Given the description of an element on the screen output the (x, y) to click on. 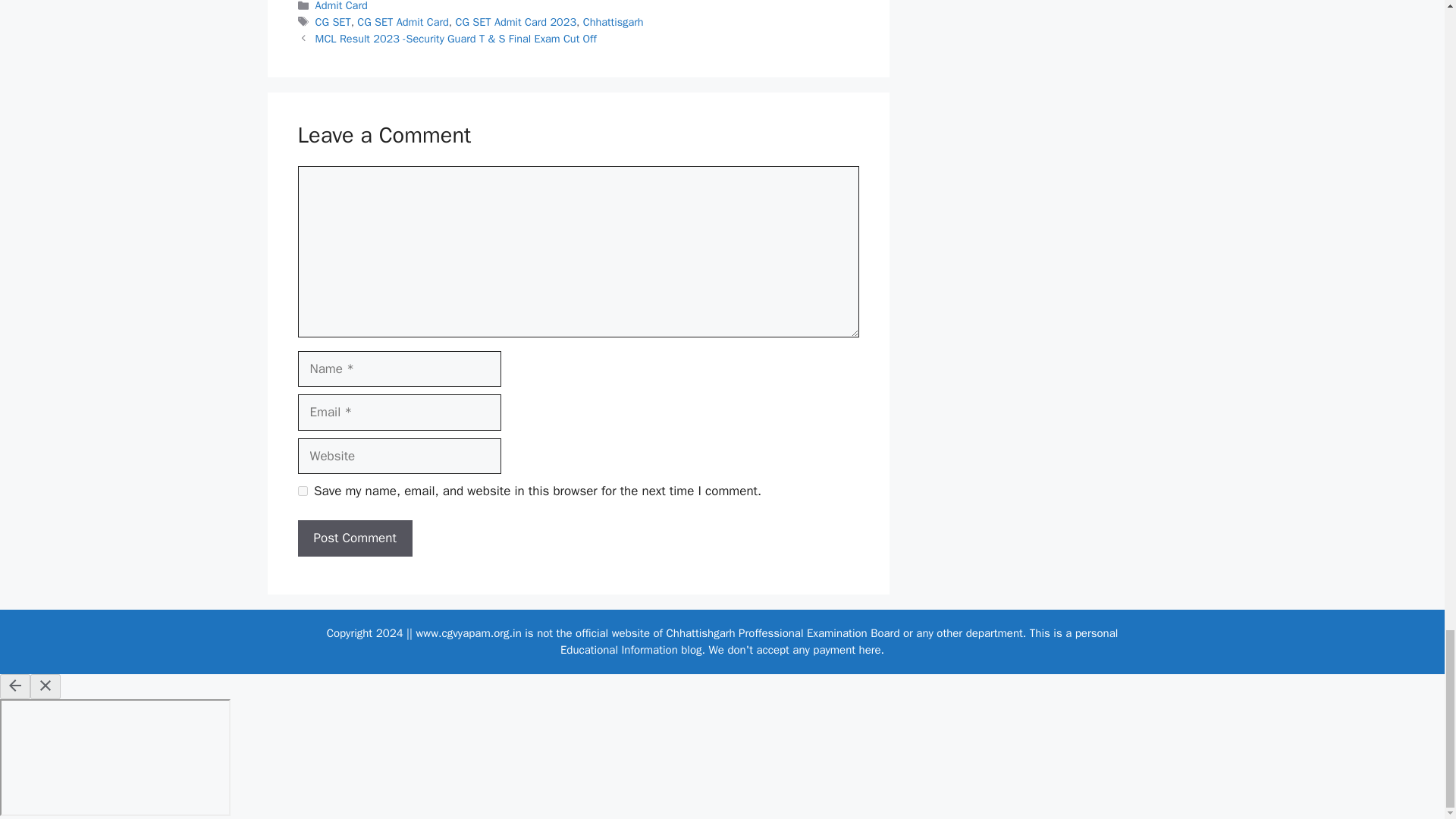
CG SET Admit Card 2023 (515, 21)
Post Comment (354, 538)
Post Comment (354, 538)
Admit Card (341, 6)
CG SET Admit Card (402, 21)
yes (302, 491)
Chhattisgarh (613, 21)
CG SET (332, 21)
